Given the description of an element on the screen output the (x, y) to click on. 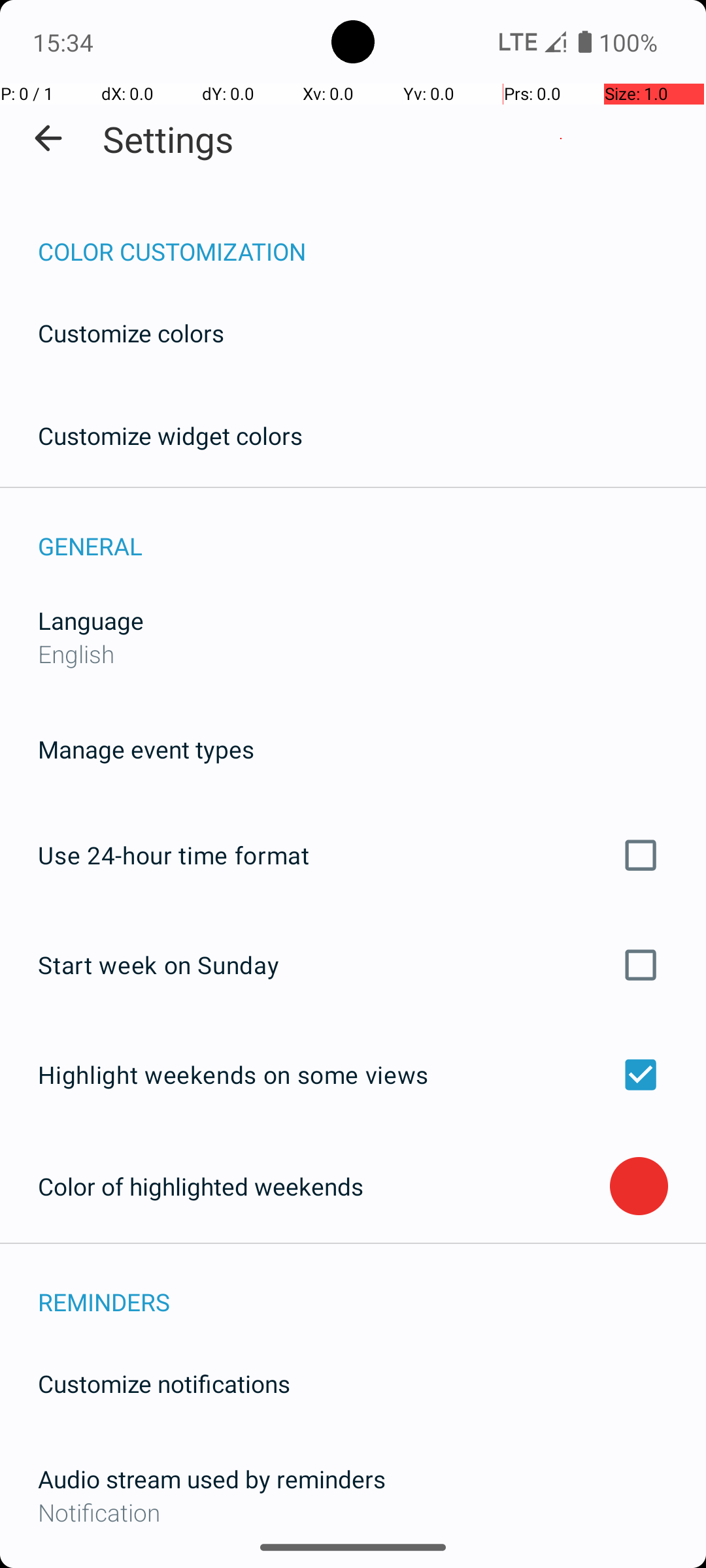
Color of highlighted weekends Element type: android.widget.TextView (323, 1186)
